Given the description of an element on the screen output the (x, y) to click on. 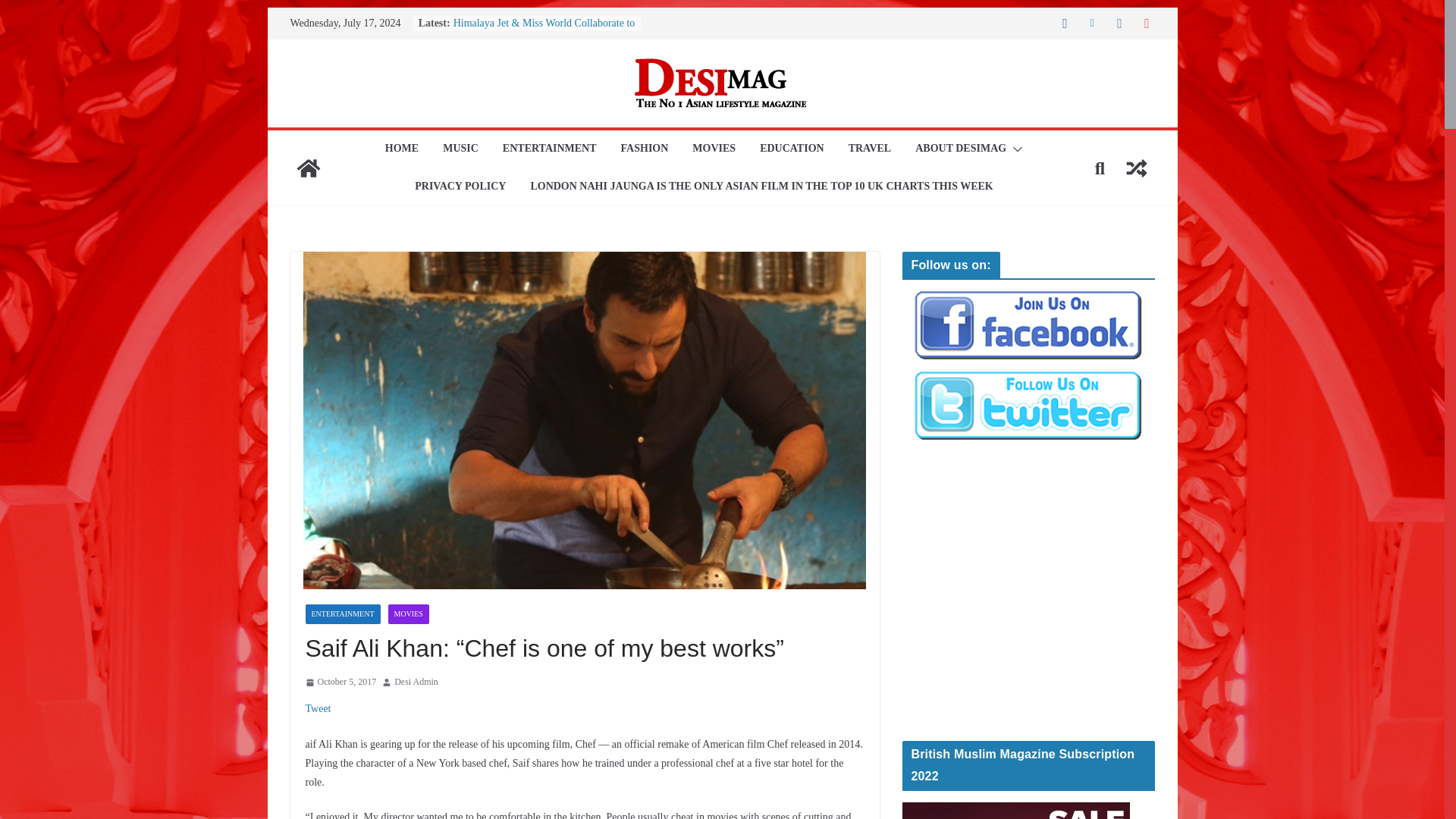
DesiMag (307, 167)
Desi Admin (416, 682)
View a random post (1136, 167)
5:39 pm (339, 682)
